Given the description of an element on the screen output the (x, y) to click on. 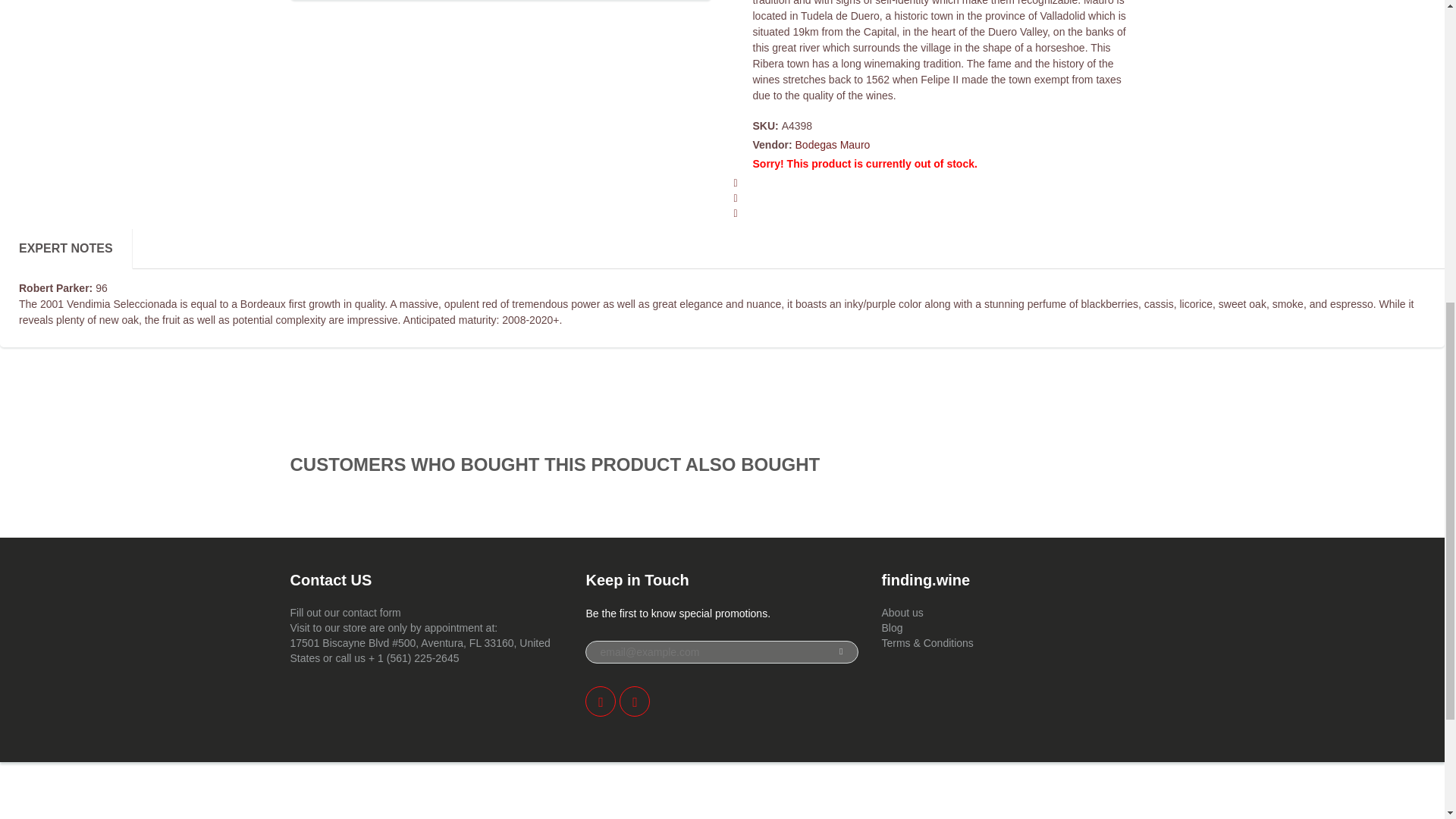
Facebook (600, 701)
Instagram (634, 701)
Bodegas Mauro (832, 144)
